Given the description of an element on the screen output the (x, y) to click on. 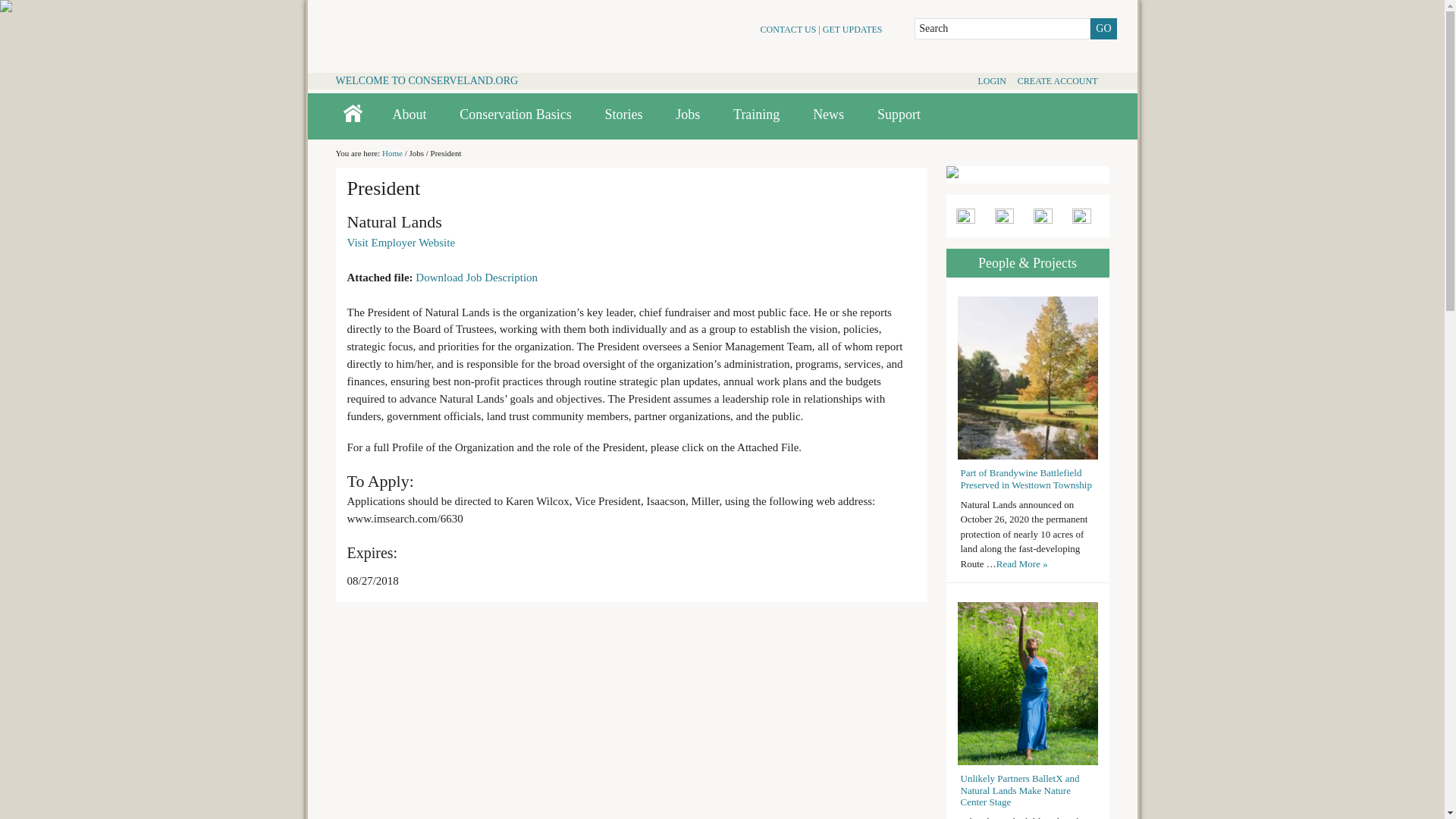
Go (1103, 28)
Training (755, 114)
CONTACT US (789, 29)
Conservation Basics (515, 114)
Go (1103, 28)
LOGIN (991, 81)
WELCOME TO CONSERVELAND.ORG (426, 80)
News (828, 114)
